Given the description of an element on the screen output the (x, y) to click on. 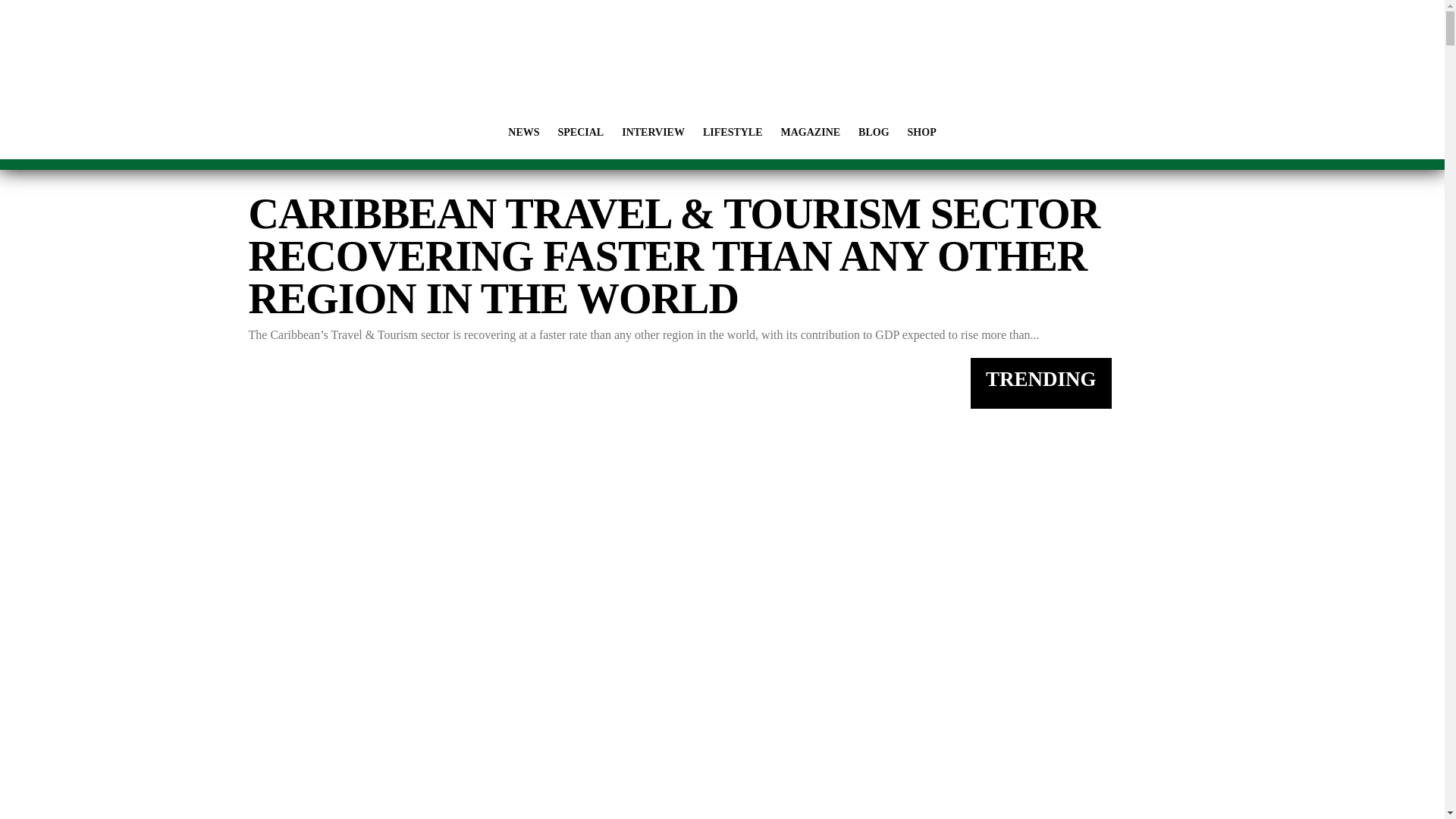
NEWS (523, 132)
News (523, 132)
